Given the description of an element on the screen output the (x, y) to click on. 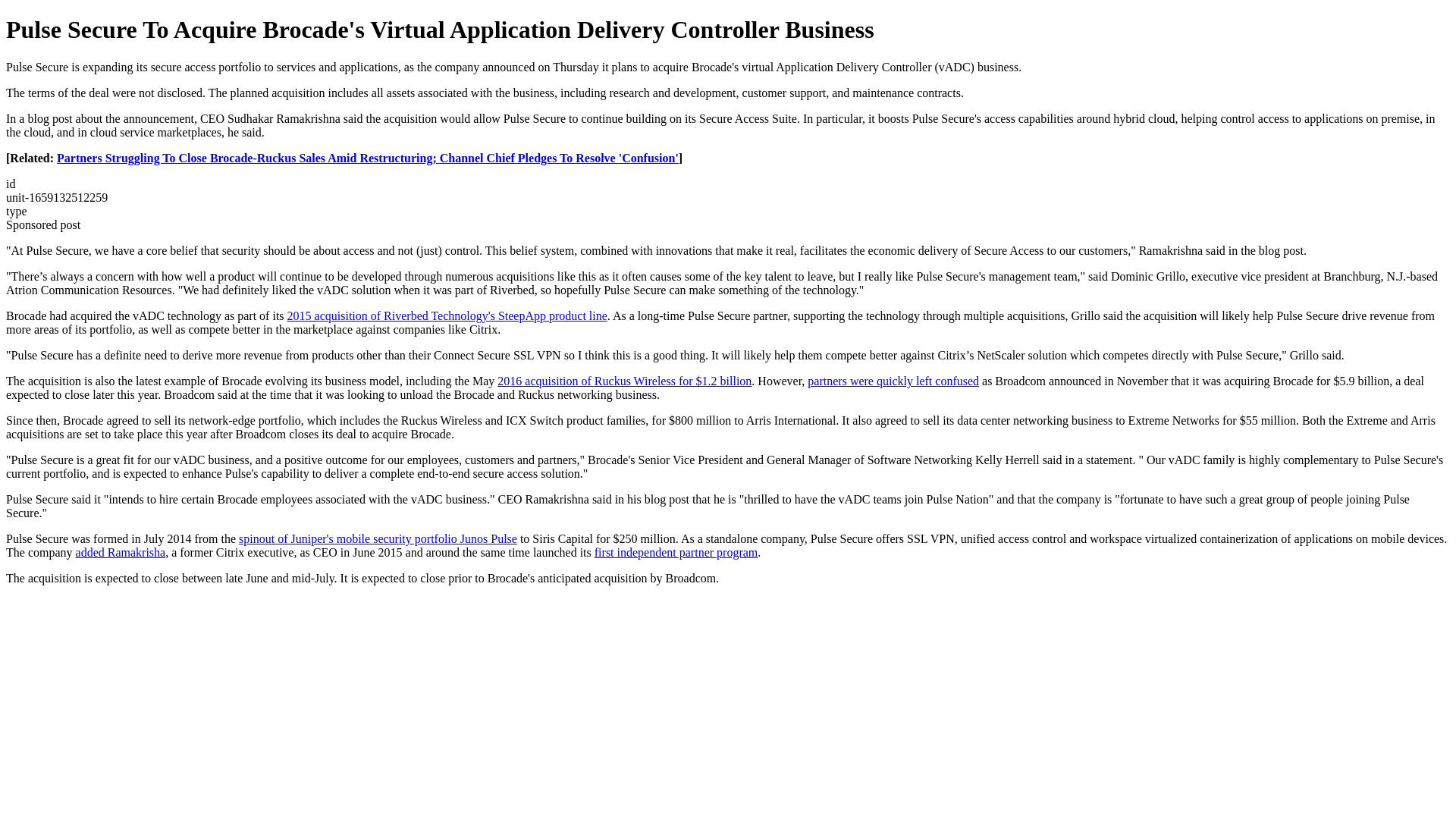
added Ramakrisha (120, 552)
partners were quickly left confused (893, 380)
first independent partner program (675, 552)
spinout of Juniper's mobile security portfolio Junos Pulse (377, 538)
